Given the description of an element on the screen output the (x, y) to click on. 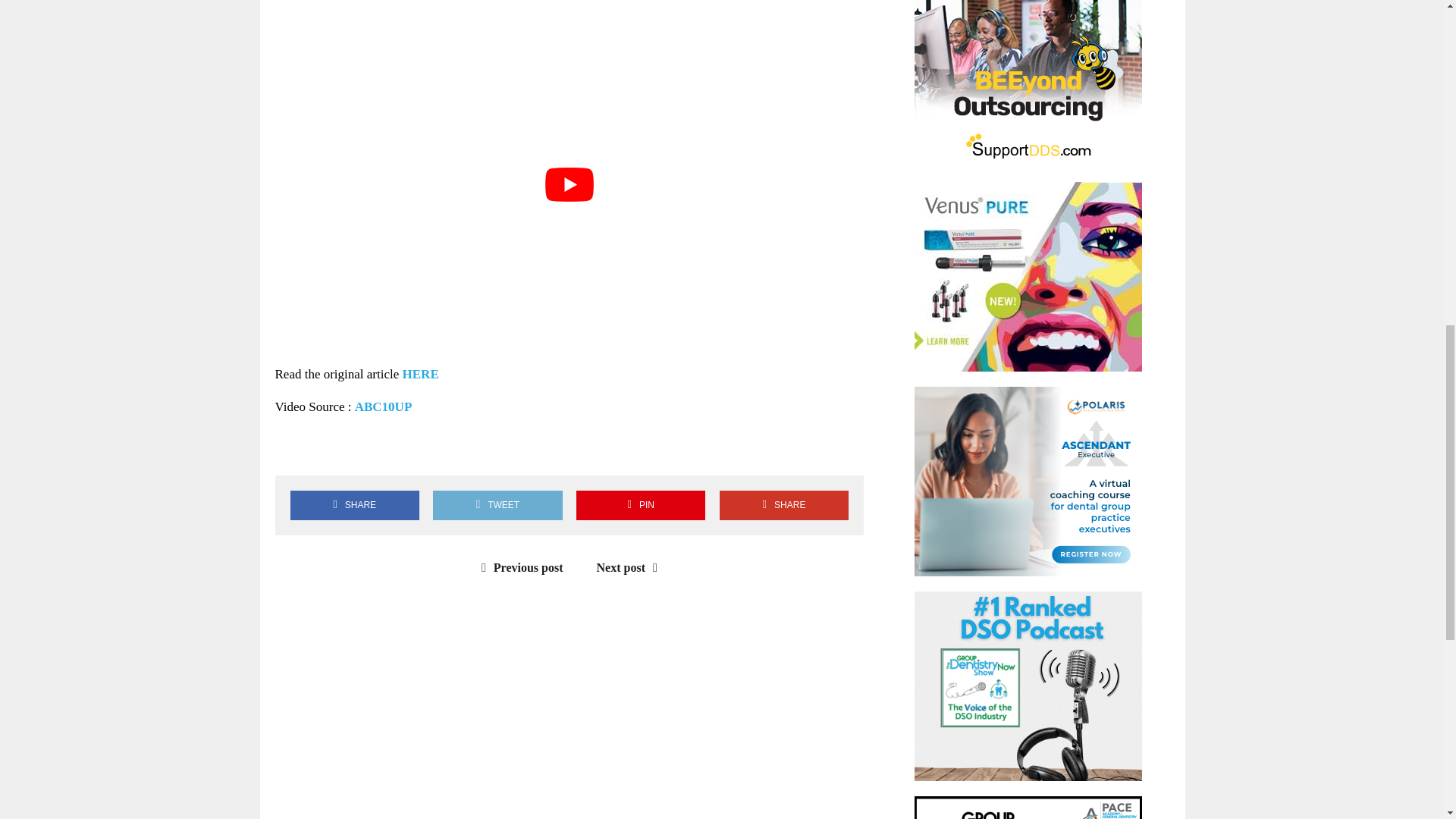
Tweet This Post (497, 505)
Share on Facebook (293, 449)
Share by email (424, 449)
Share on Facebook (354, 505)
Share on Twitter (336, 449)
Share on Linkedin (380, 449)
